Given the description of an element on the screen output the (x, y) to click on. 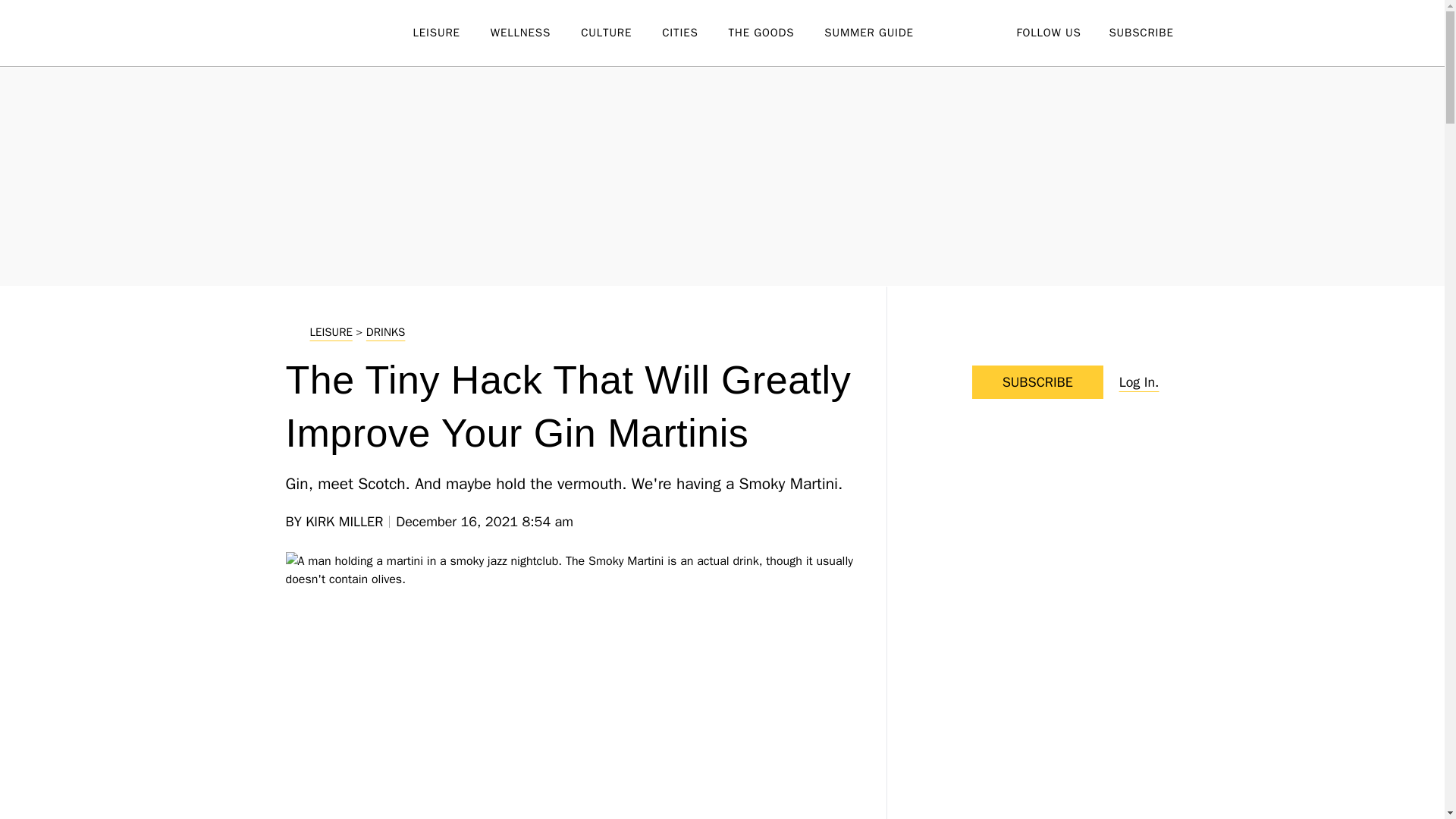
FOLLOW US (1048, 32)
WELLNESS (535, 32)
CITIES (695, 32)
CULTURE (621, 32)
SUBSCRIBE (1140, 32)
LEISURE (450, 32)
SUMMER GUIDE (883, 32)
THE GOODS (777, 32)
